Given the description of an element on the screen output the (x, y) to click on. 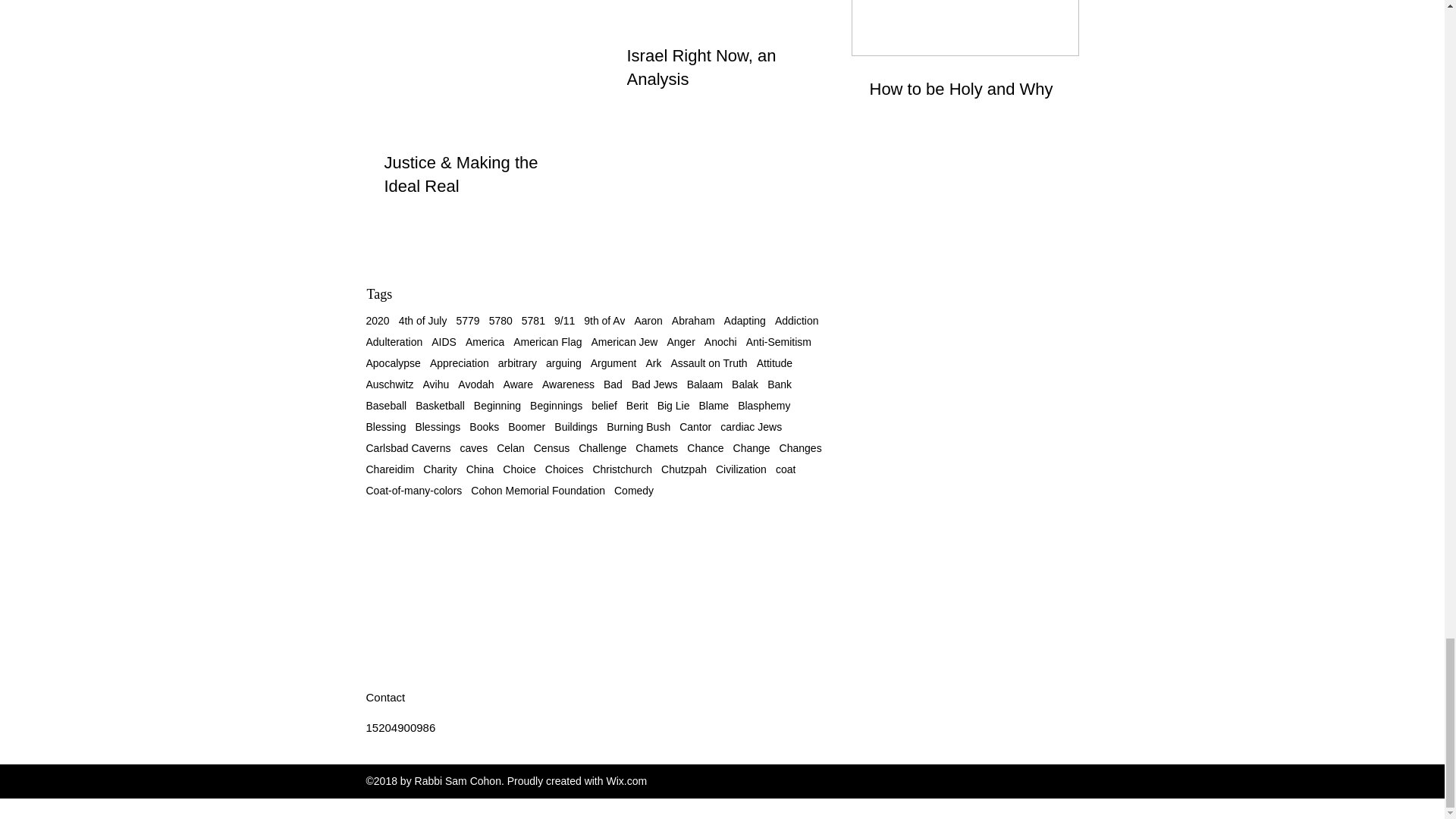
AIDS (443, 341)
Adapting (744, 320)
Anti-Semitism (777, 341)
Appreciation (459, 363)
Addiction (796, 320)
Assault on Truth (707, 363)
Attitude (774, 363)
Anochi (720, 341)
5779 (467, 320)
Argument (614, 363)
Ark (653, 363)
Apocalypse (392, 363)
Anger (680, 341)
America (484, 341)
5780 (500, 320)
